Given the description of an element on the screen output the (x, y) to click on. 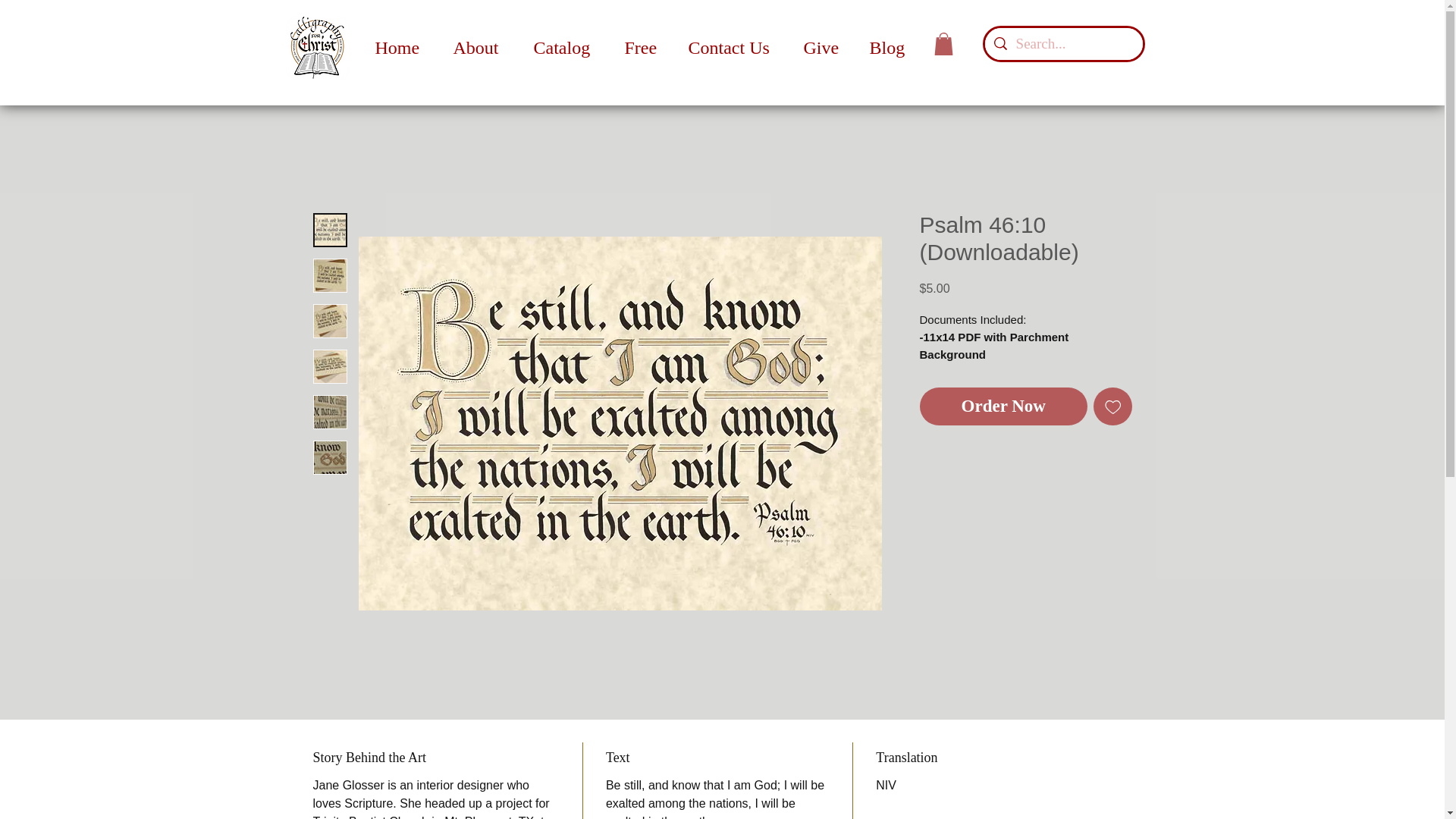
Blog (890, 47)
Give (824, 47)
Order Now (1002, 406)
About (481, 47)
Catalog (566, 47)
Contact Us (734, 47)
Home (403, 47)
Free (644, 47)
